Given the description of an element on the screen output the (x, y) to click on. 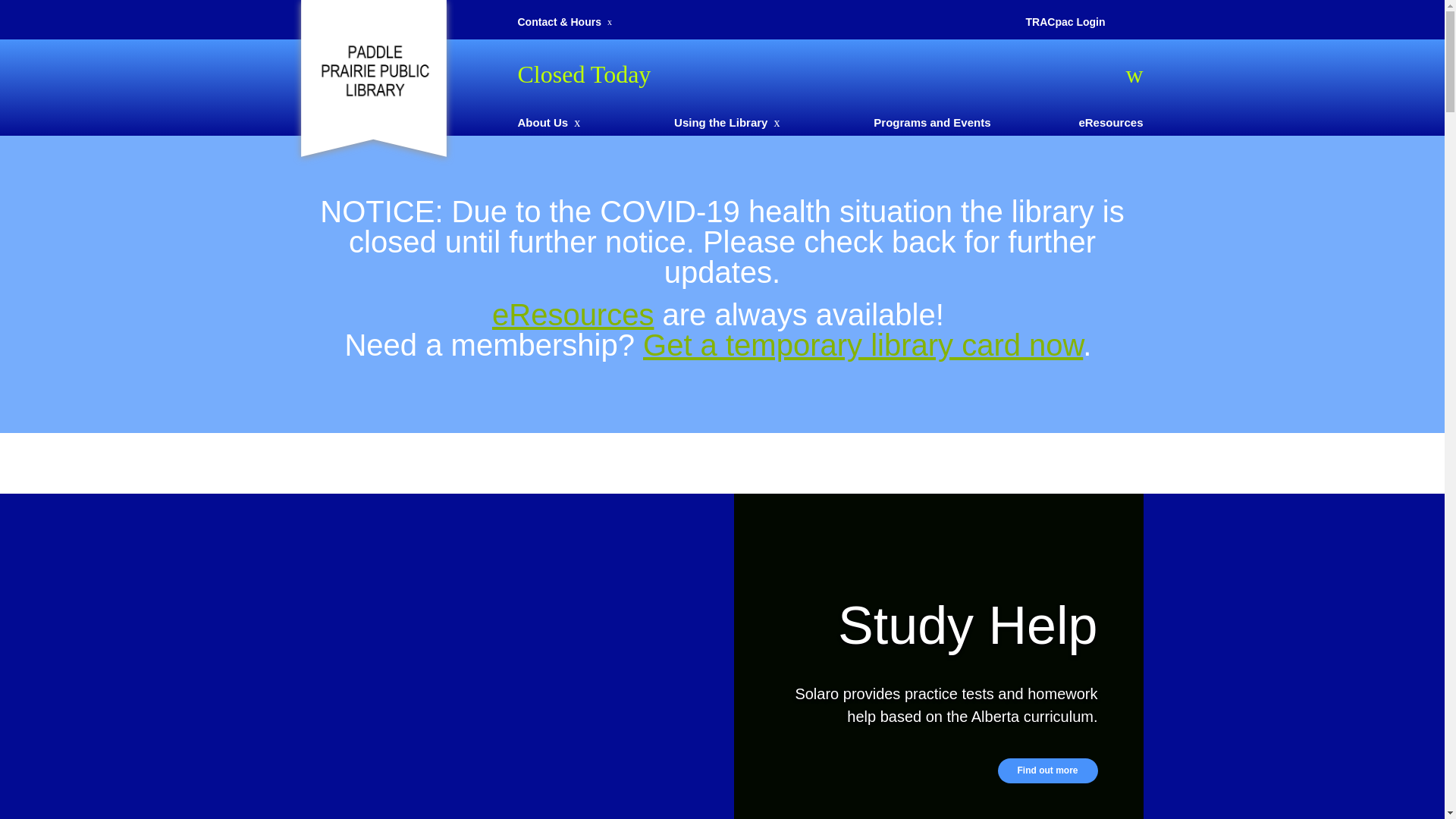
TRACpac Login Element type: text (1064, 21)
eResources Element type: text (1110, 122)
About Us Element type: text (542, 122)
Paddle Prairie Public Library Element type: hover (372, 70)
Get a temporary library card now Element type: text (862, 344)
Find out more Element type: text (1047, 770)
eResources Element type: text (572, 314)
Using the Library Element type: text (720, 122)
Programs and Events Element type: text (931, 122)
Contact & Hours Element type: text (558, 21)
